Given the description of an element on the screen output the (x, y) to click on. 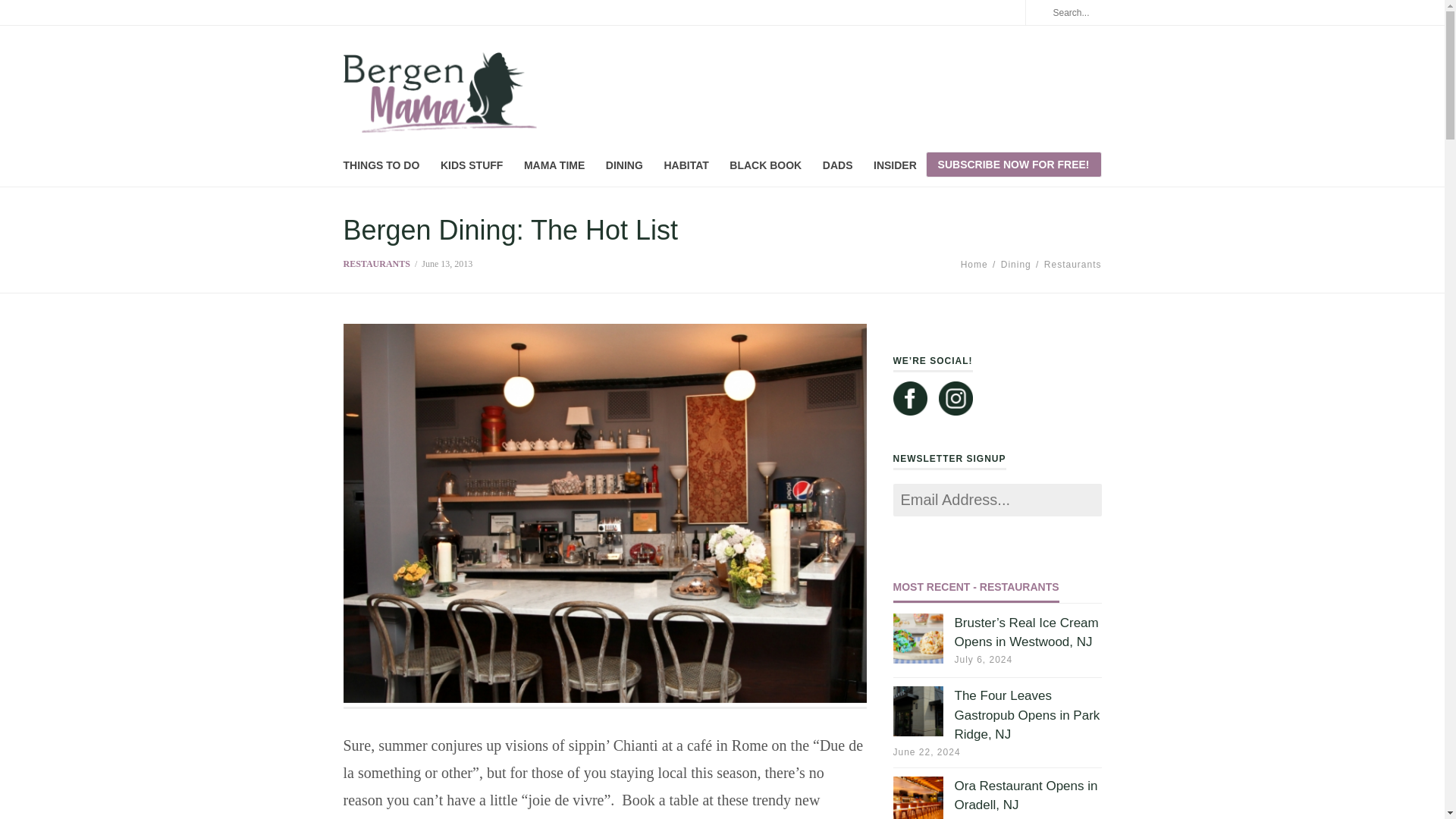
BLACK BOOK (765, 168)
INSIDER (895, 168)
THINGS TO DO (380, 168)
DINING (624, 168)
MAMA TIME (554, 168)
KIDS STUFF (471, 168)
HABITAT (685, 168)
All things cool and hip in Bergen (438, 94)
Home (974, 264)
RESTAURANTS (375, 263)
SUBSCRIBE NOW FOR FREE! (1014, 164)
Dining (1015, 264)
Restaurants (1072, 264)
